Given the description of an element on the screen output the (x, y) to click on. 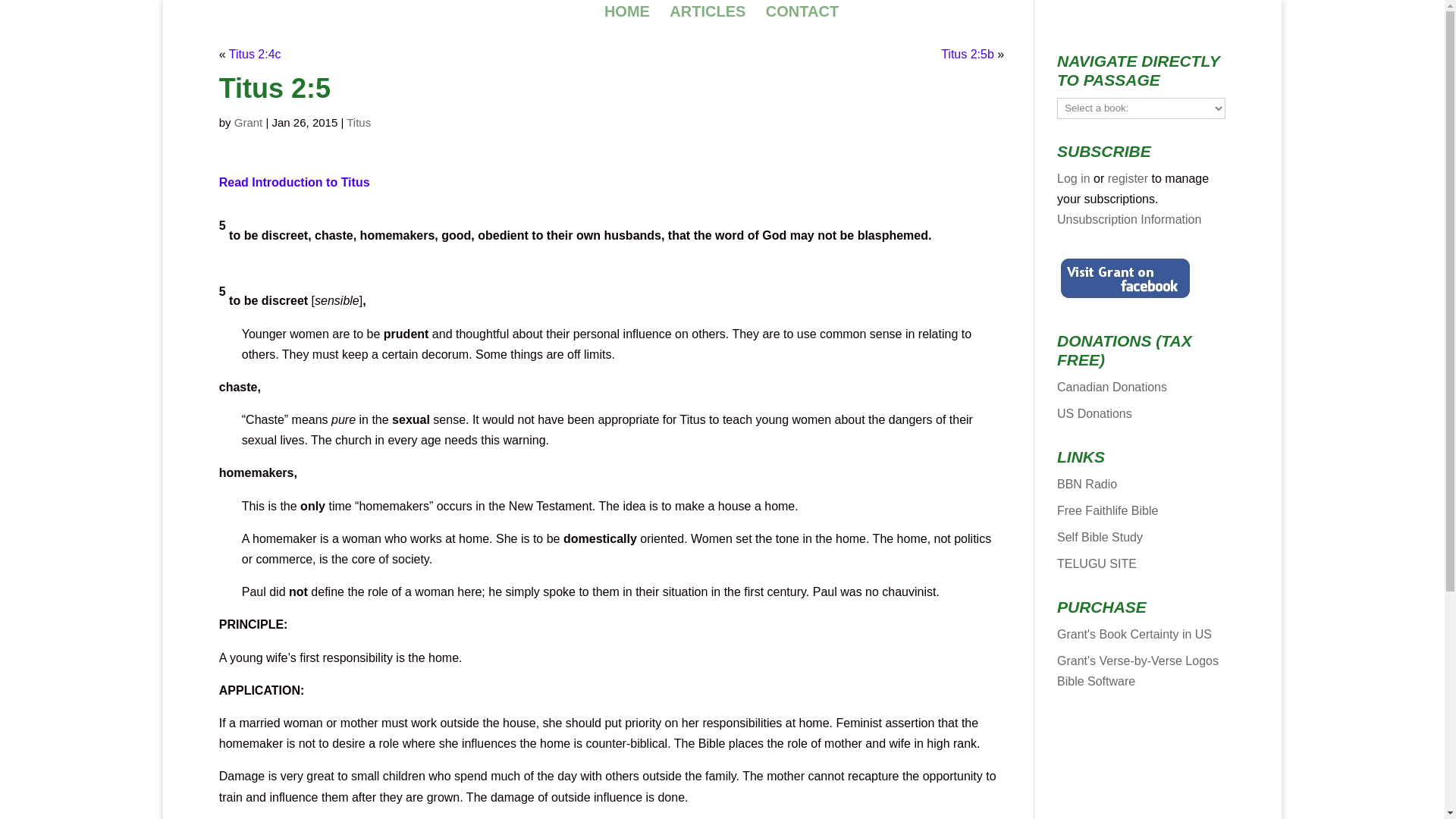
Unsubscription Information (1129, 219)
Canadian Donations (1112, 386)
register (1128, 178)
Read Introduction to Titus (294, 182)
Posts by Grant (248, 122)
Grant's Book Certainty in US (1134, 634)
Grant's Verse-by-Verse Logos Bible Software (1137, 670)
BBN Radio (1086, 483)
Titus 2:4c (254, 53)
Free Faithlife Bible (1107, 510)
